Given the description of an element on the screen output the (x, y) to click on. 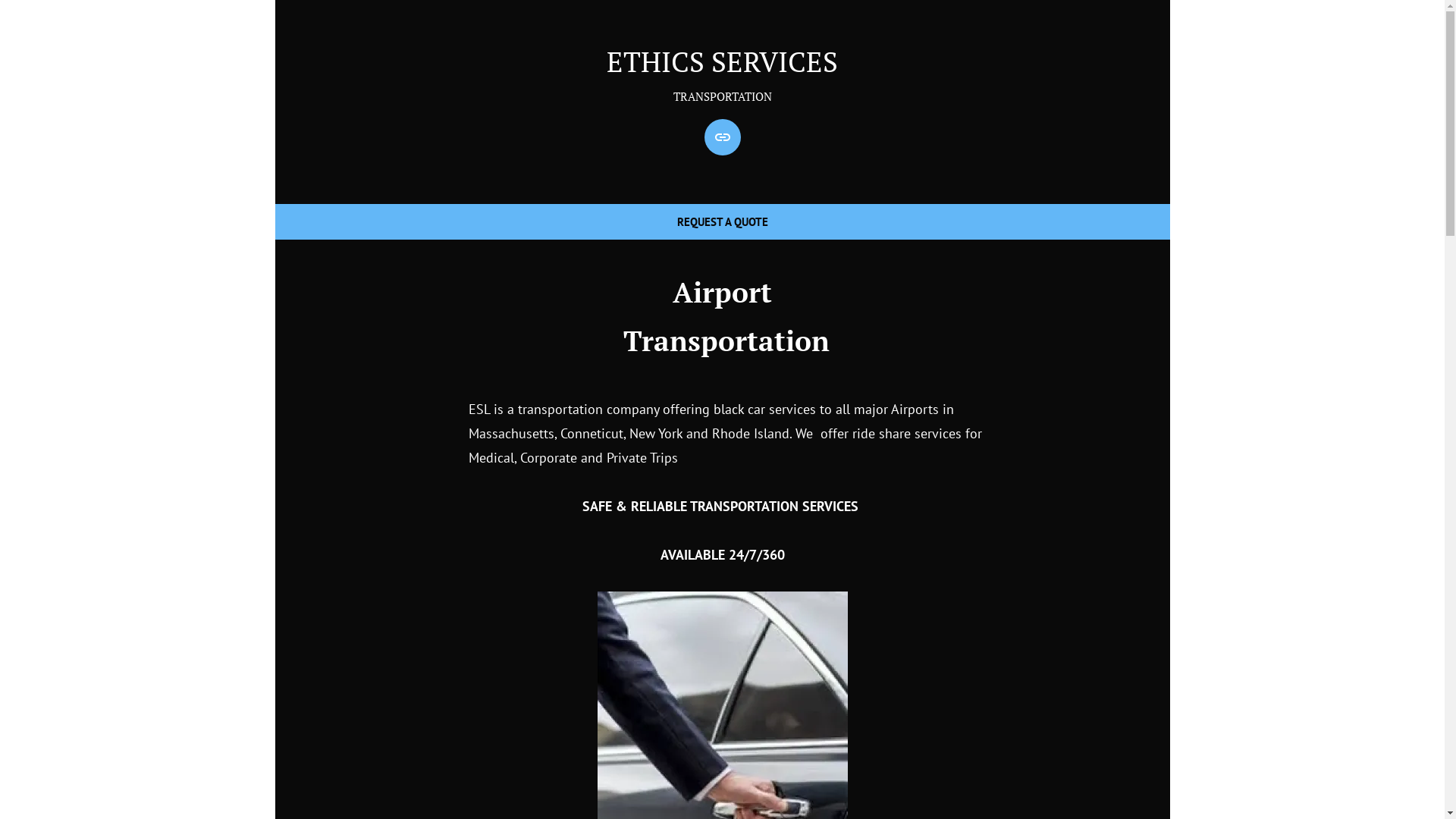
REQUEST A QUOTE Element type: text (721, 221)
ETHICS SERVICES Element type: text (721, 61)
REQUEST A QUOTE Element type: text (721, 137)
